Given the description of an element on the screen output the (x, y) to click on. 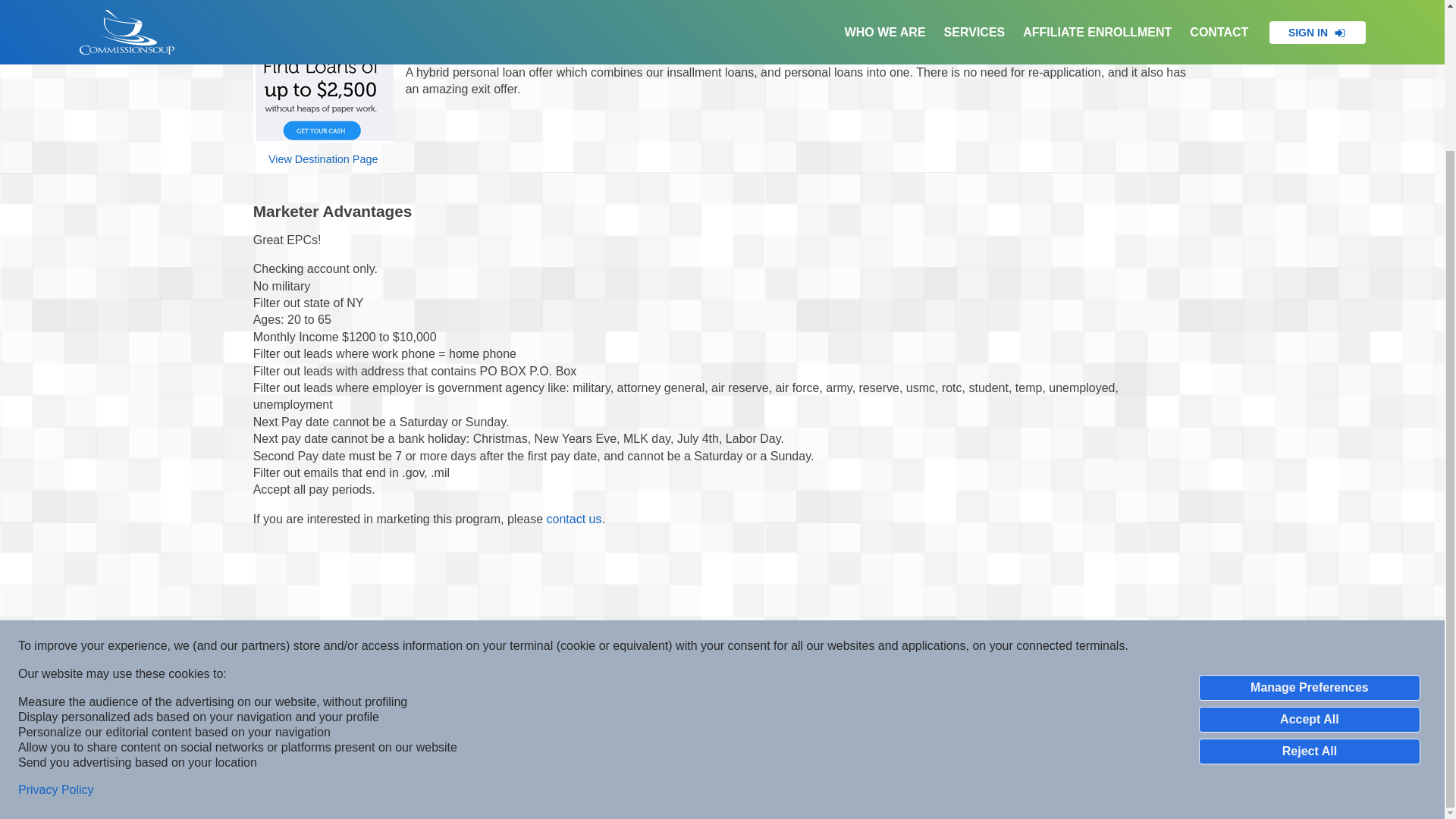
Site Map (860, 719)
Terms and Conditions of Use (761, 719)
Privacy Policy (55, 615)
Anti-Spam Policy (678, 719)
FAQ (816, 719)
Anti-Spam Policy (678, 719)
Follow us on Facebook (722, 783)
CommissionSoup Affiliate Network (789, 681)
FAQ (816, 719)
contact us (574, 518)
Reject All (1309, 576)
Accept All (1309, 544)
Site Map (860, 719)
Bulldog Media Group (655, 681)
Follow us on LinkedIn (685, 783)
